Given the description of an element on the screen output the (x, y) to click on. 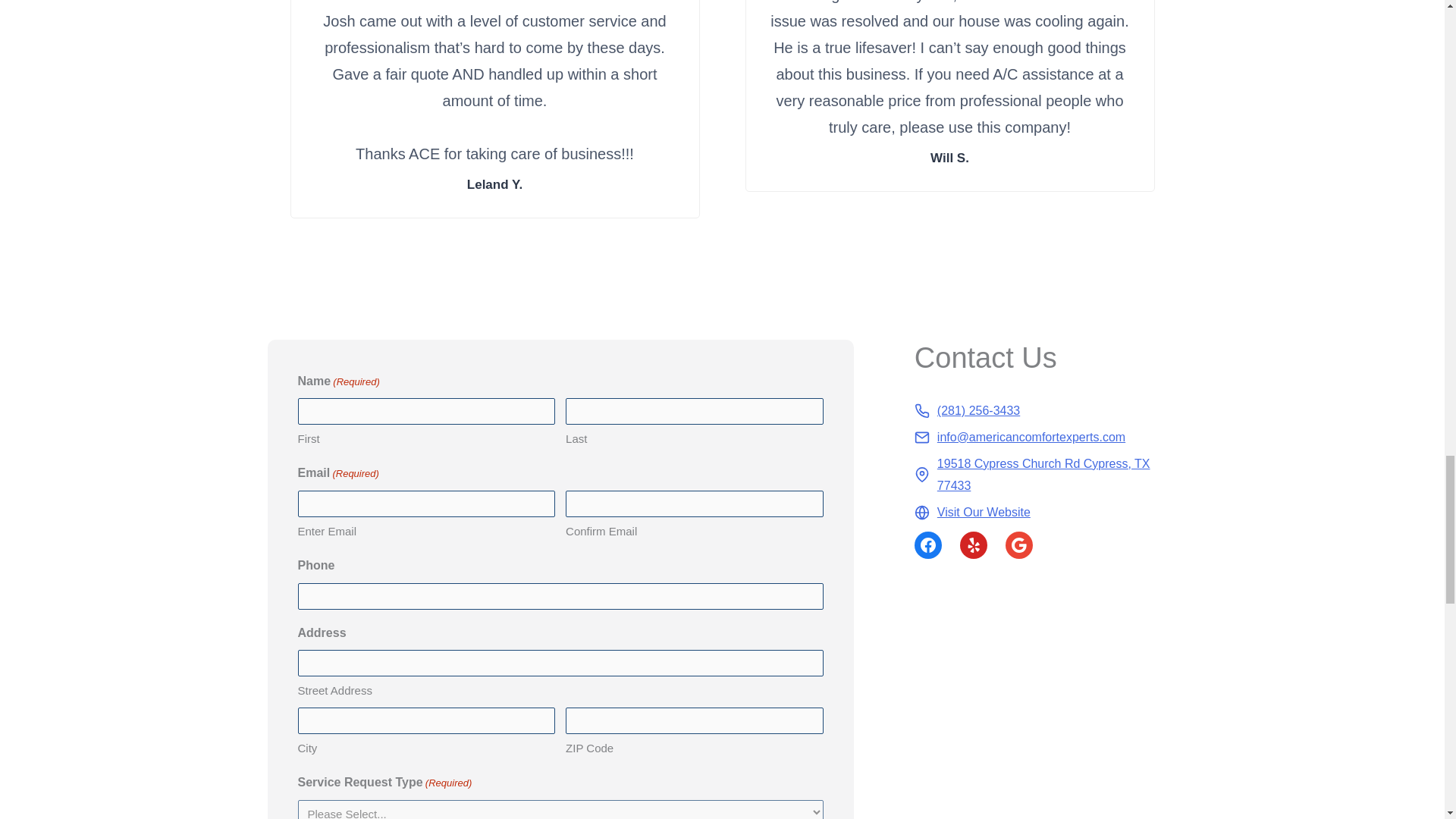
Google (1019, 544)
Follow Us On Facebook (928, 544)
19518 Cypress Church Rd Cypress, TX 77433 (1045, 474)
Visit Our Website (972, 512)
Yelp (973, 544)
